Given the description of an element on the screen output the (x, y) to click on. 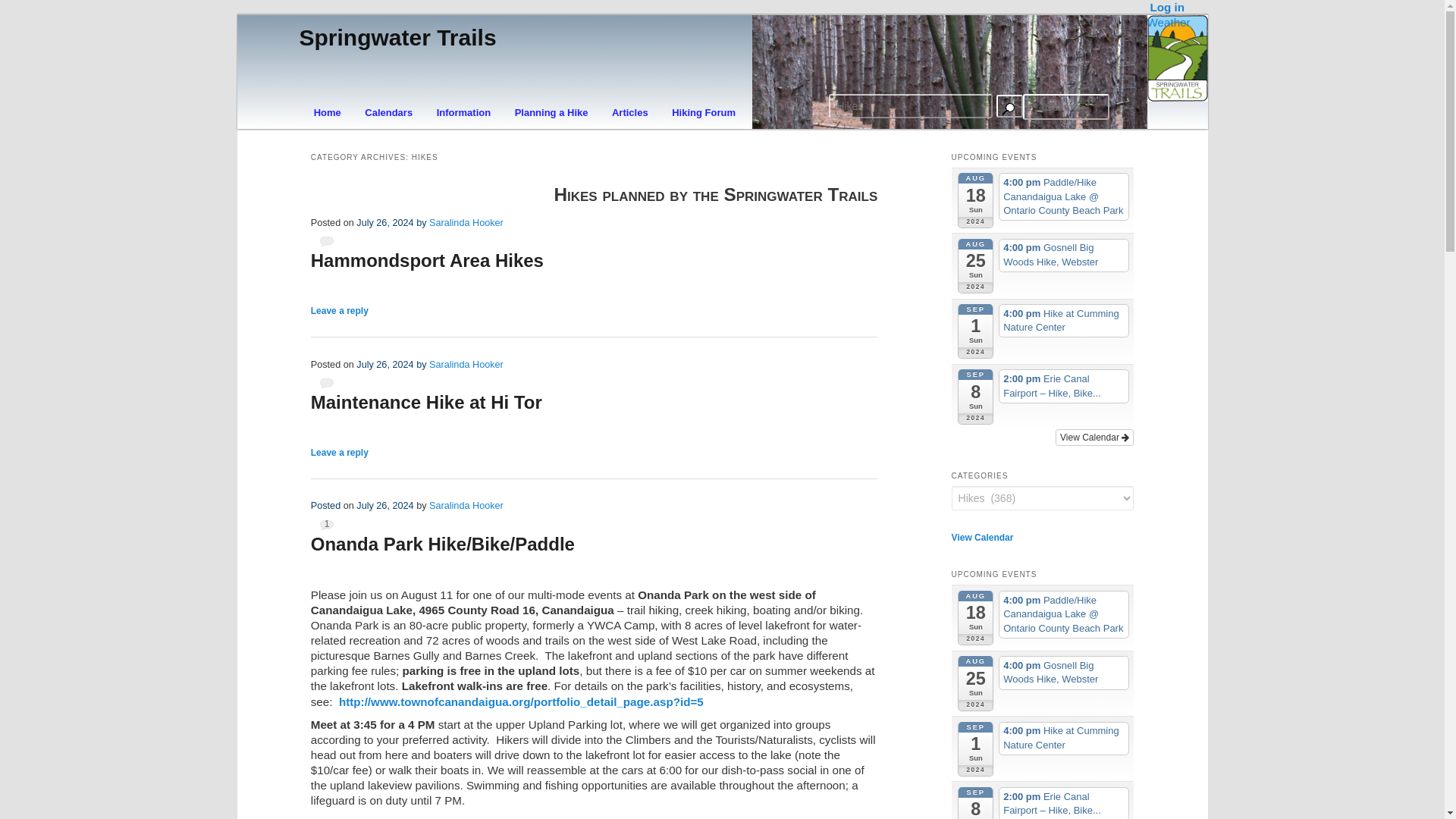
Weather (1168, 21)
Information (463, 112)
Frequently Asked Questions (463, 112)
Calendars (389, 112)
Planning a Hike (550, 112)
The Springwater Trails Calendar (389, 112)
Click to search (1009, 106)
Home (327, 112)
8:33 am (429, 364)
